Given the description of an element on the screen output the (x, y) to click on. 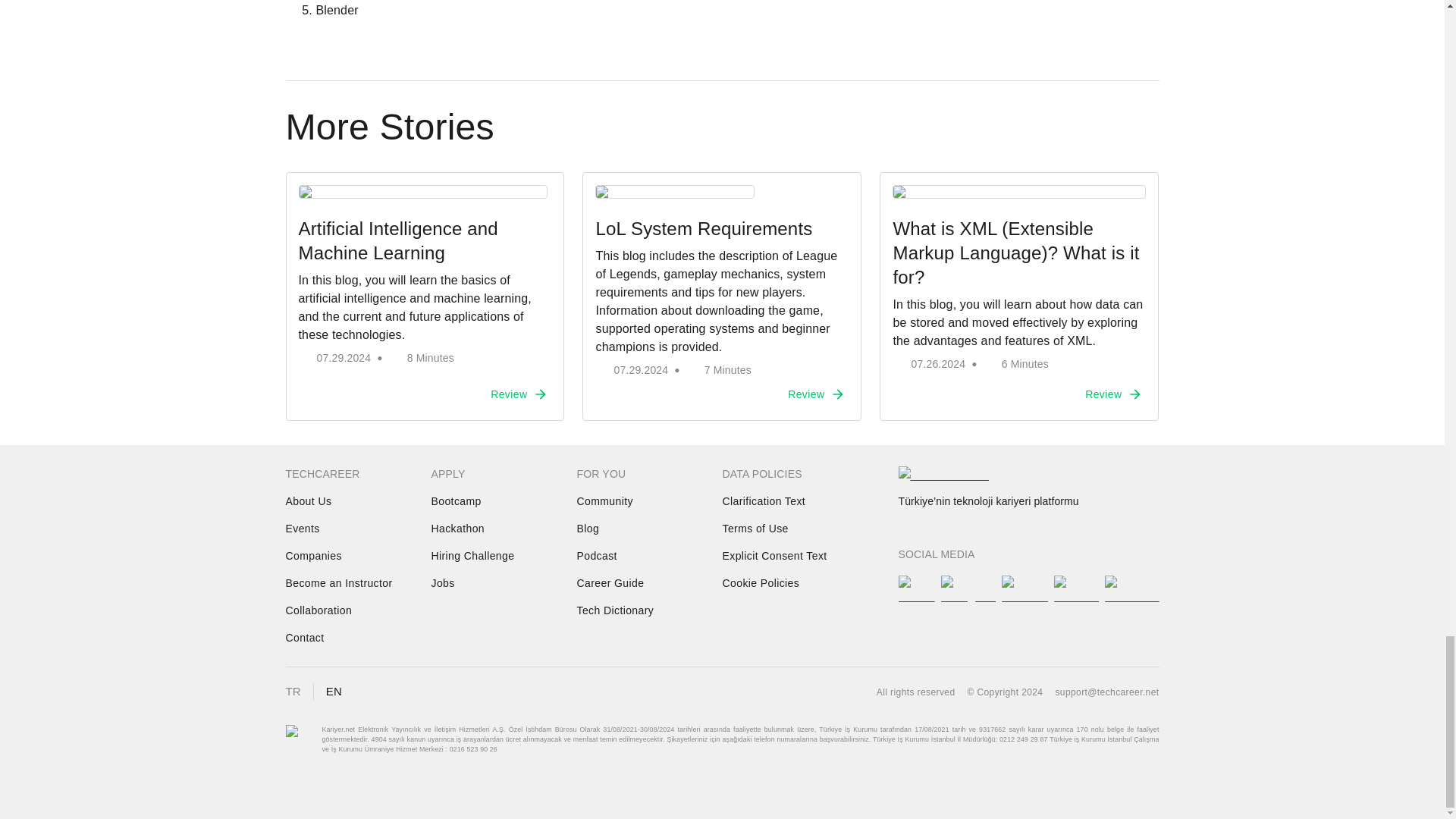
Bootcamp (455, 501)
Review (814, 393)
Become an Instructor (338, 583)
Community (603, 501)
Events (309, 528)
Review (517, 393)
Review (1111, 393)
Blog (600, 528)
Tech Dictionary (614, 610)
Career Guide (609, 583)
Clarification Text (763, 501)
Podcast (600, 555)
Jobs (454, 583)
Contact (309, 637)
Companies (312, 555)
